Given the description of an element on the screen output the (x, y) to click on. 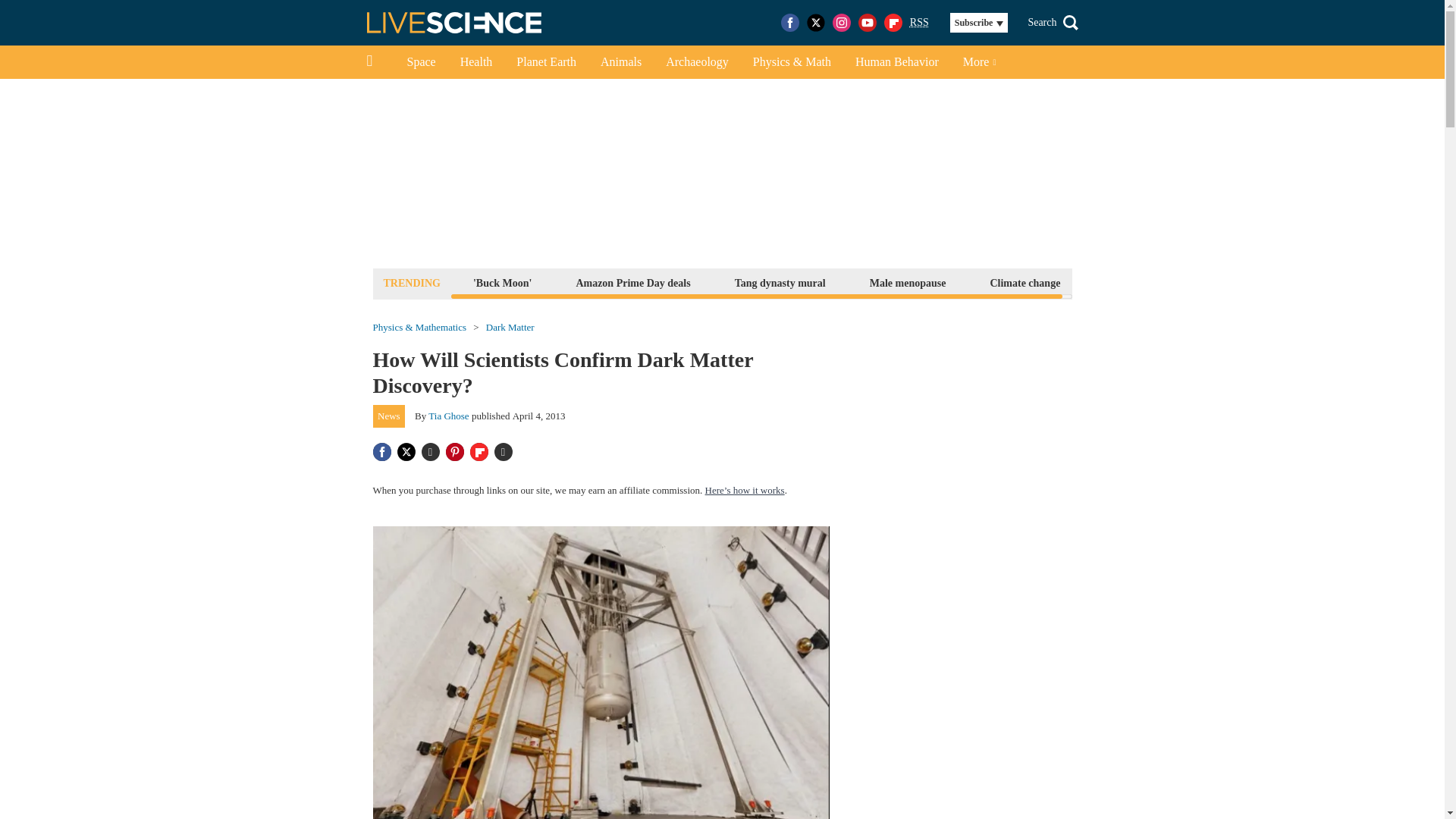
Health (476, 61)
Tia Ghose (448, 415)
'Buck Moon' (502, 282)
Amazon Prime Day deals (632, 282)
Male menopause (908, 282)
Climate change (1024, 282)
Animals (620, 61)
Archaeology (697, 61)
Tang dynasty mural (780, 282)
Human Behavior (896, 61)
News (389, 415)
RSS (919, 22)
Space (420, 61)
Dark Matter (510, 327)
Planet Earth (545, 61)
